Given the description of an element on the screen output the (x, y) to click on. 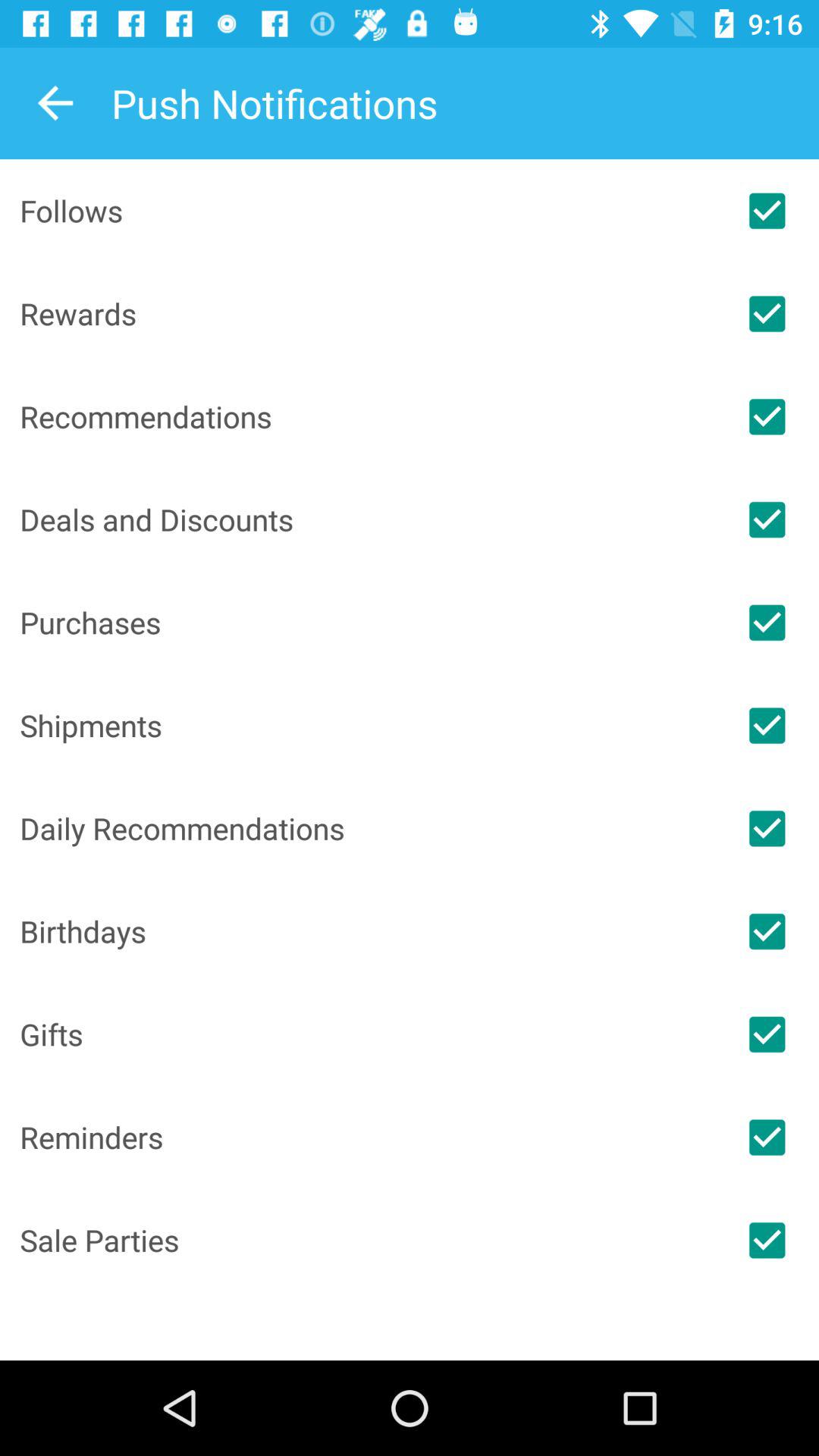
open the item above recommendations (367, 313)
